Given the description of an element on the screen output the (x, y) to click on. 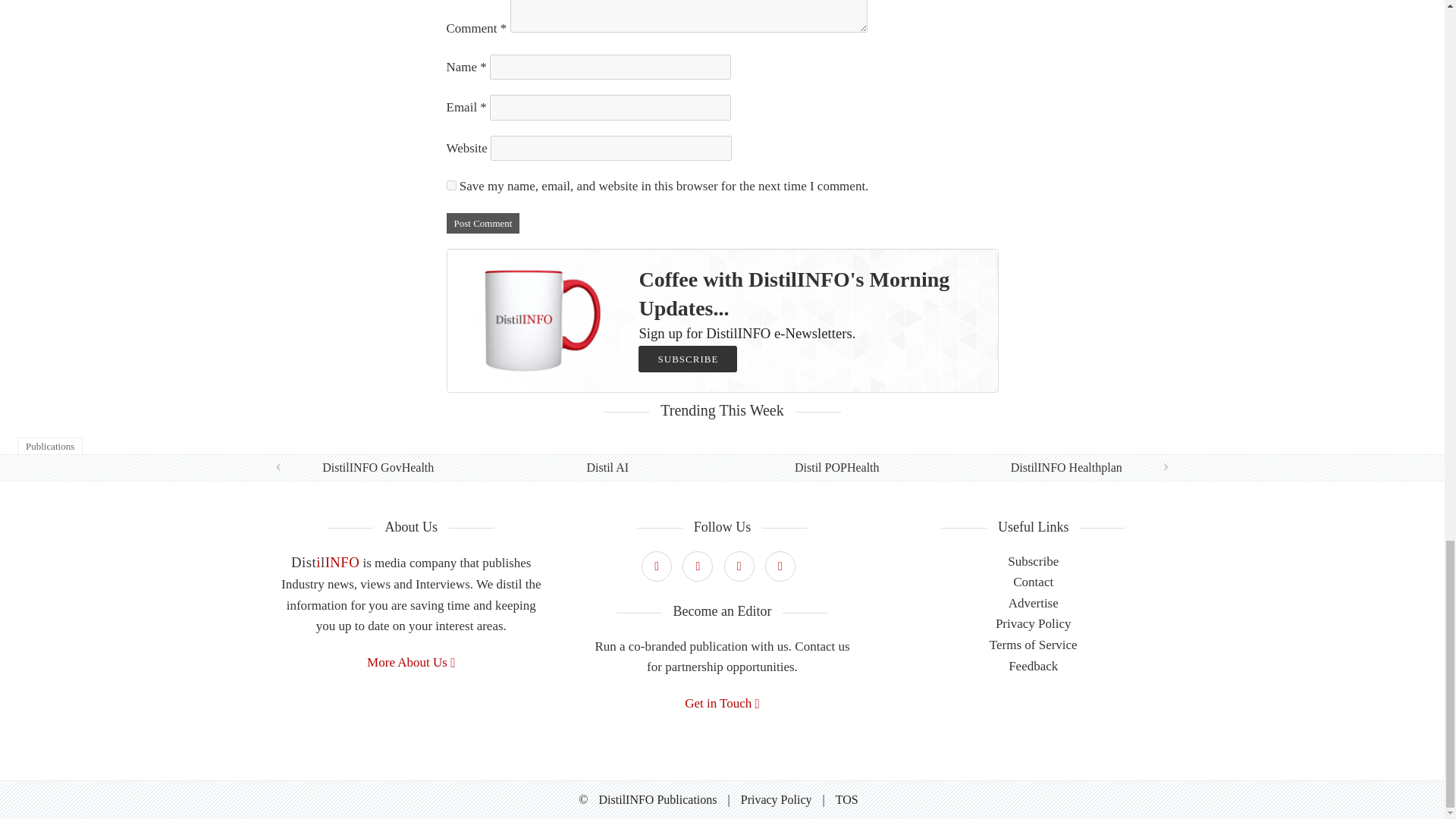
Post Comment (482, 222)
yes (450, 185)
SUBSCRIBE (687, 358)
Post Comment (482, 222)
